Given the description of an element on the screen output the (x, y) to click on. 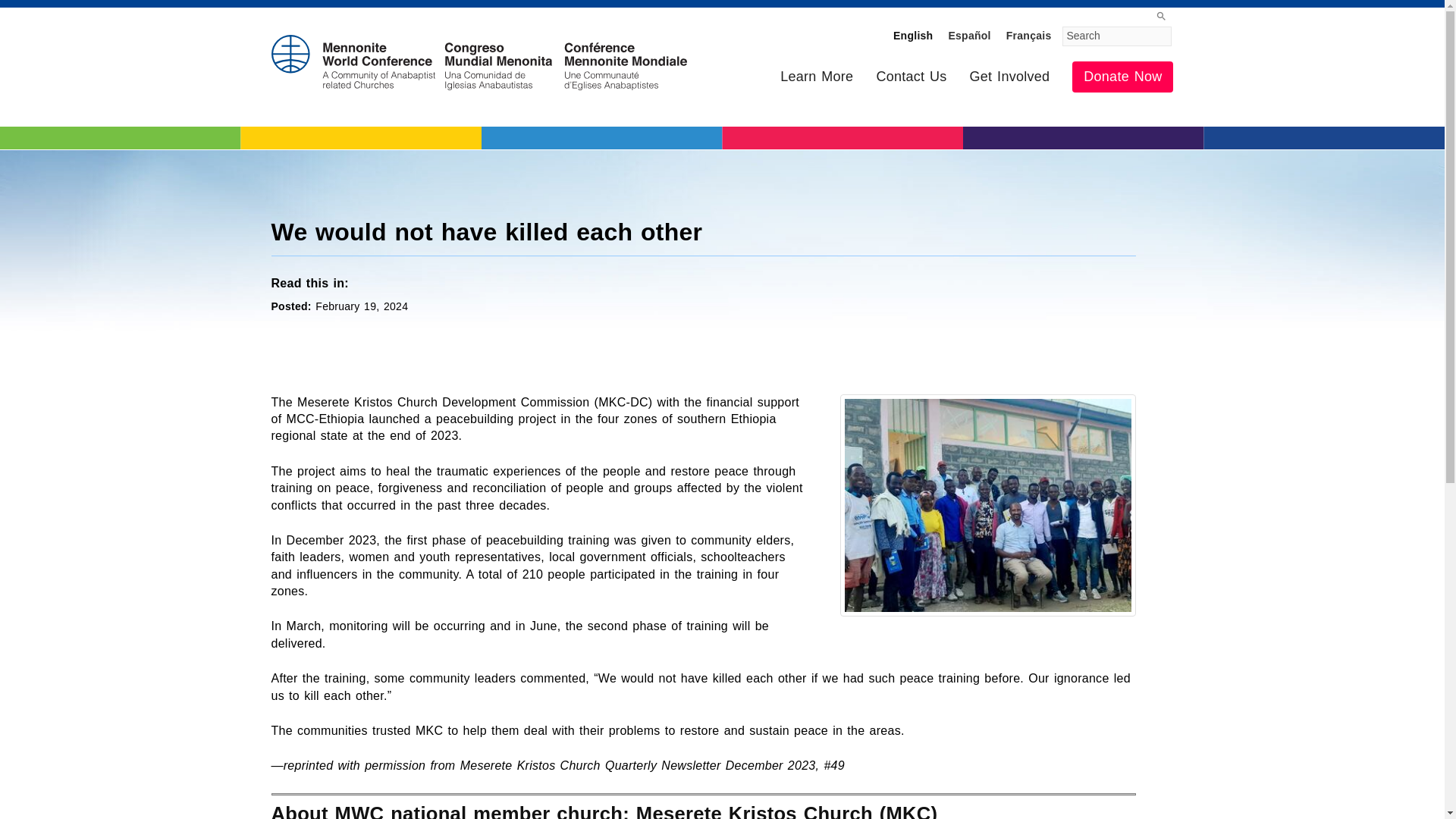
Search (1117, 35)
English (913, 35)
Enter the terms you wish to search for. (1117, 35)
Learn More (816, 76)
Search (1117, 35)
